Given the description of an element on the screen output the (x, y) to click on. 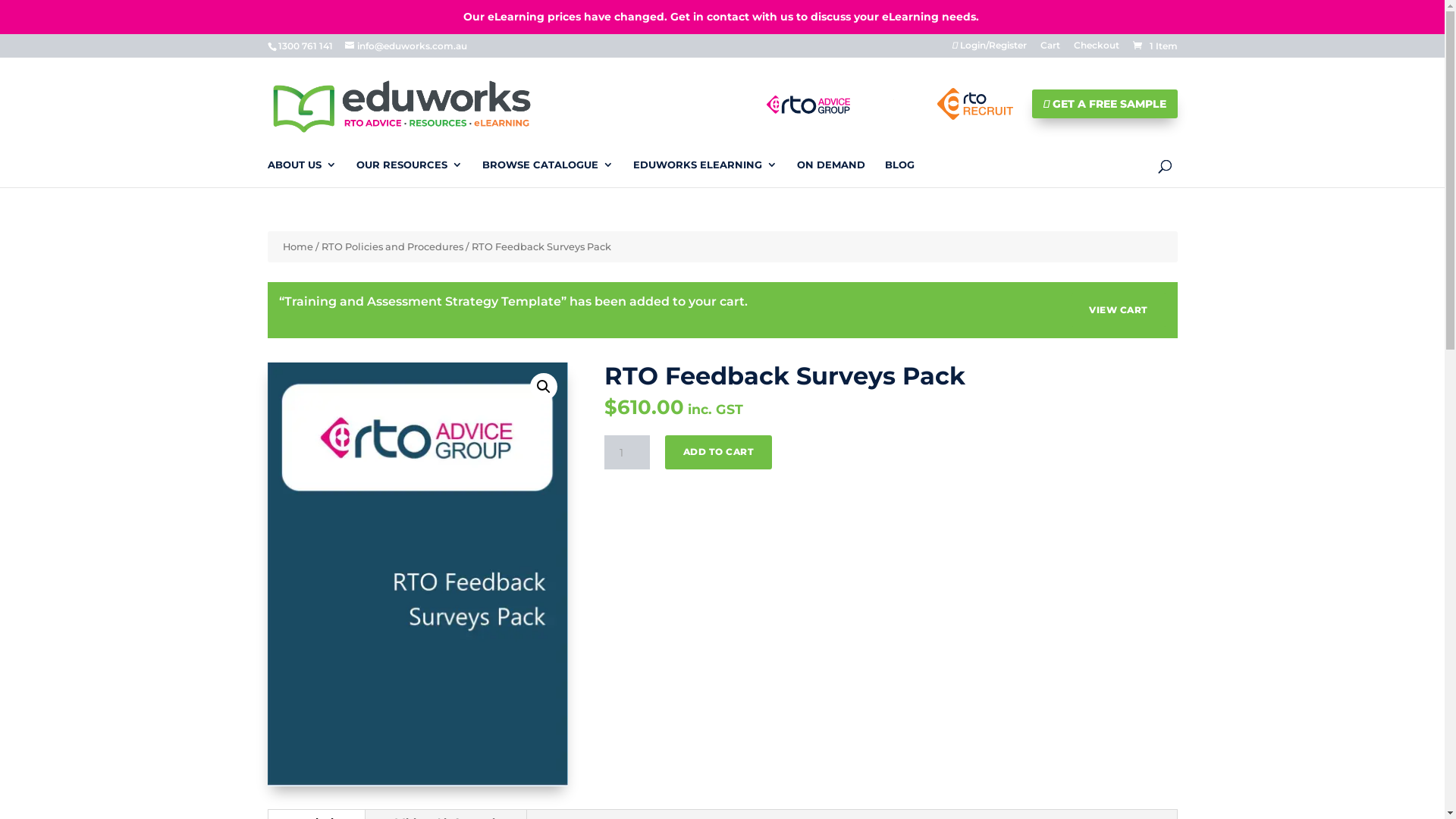
ADD TO CART Element type: text (718, 451)
Checkout Element type: text (1096, 48)
EDUWORKS ELEARNING Element type: text (704, 173)
1 Item Element type: text (1152, 45)
Cart Element type: text (1050, 48)
BROWSE CATALOGUE Element type: text (547, 173)
1300 761 141 Element type: text (304, 45)
GET A FREE SAMPLE Element type: text (1103, 103)
BLOG Element type: text (898, 173)
Login/Register Element type: text (989, 48)
VIEW CART Element type: text (1118, 309)
Home Element type: text (297, 246)
RTO Policies and Procedures Element type: text (392, 246)
ON DEMAND Element type: text (830, 173)
OUR RESOURCES Element type: text (409, 173)
ABOUT US Element type: text (300, 173)
info@eduworks.com.au Element type: text (405, 45)
